Given the description of an element on the screen output the (x, y) to click on. 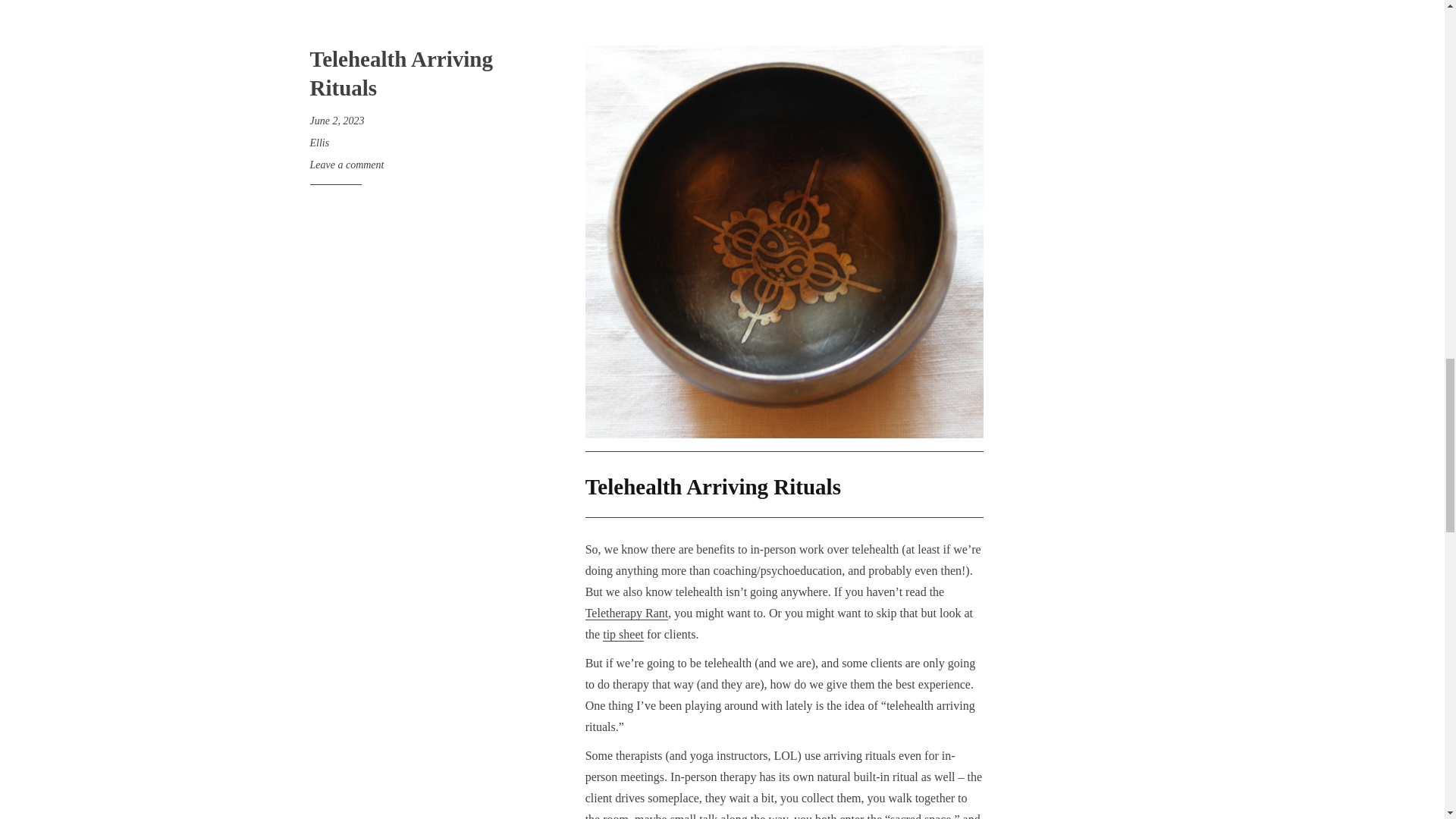
Telehealth Arriving Rituals (400, 72)
June 2, 2023 (336, 120)
Leave a comment (346, 164)
tip sheet (622, 634)
Ellis (318, 142)
Teletherapy Rant (626, 612)
